Given the description of an element on the screen output the (x, y) to click on. 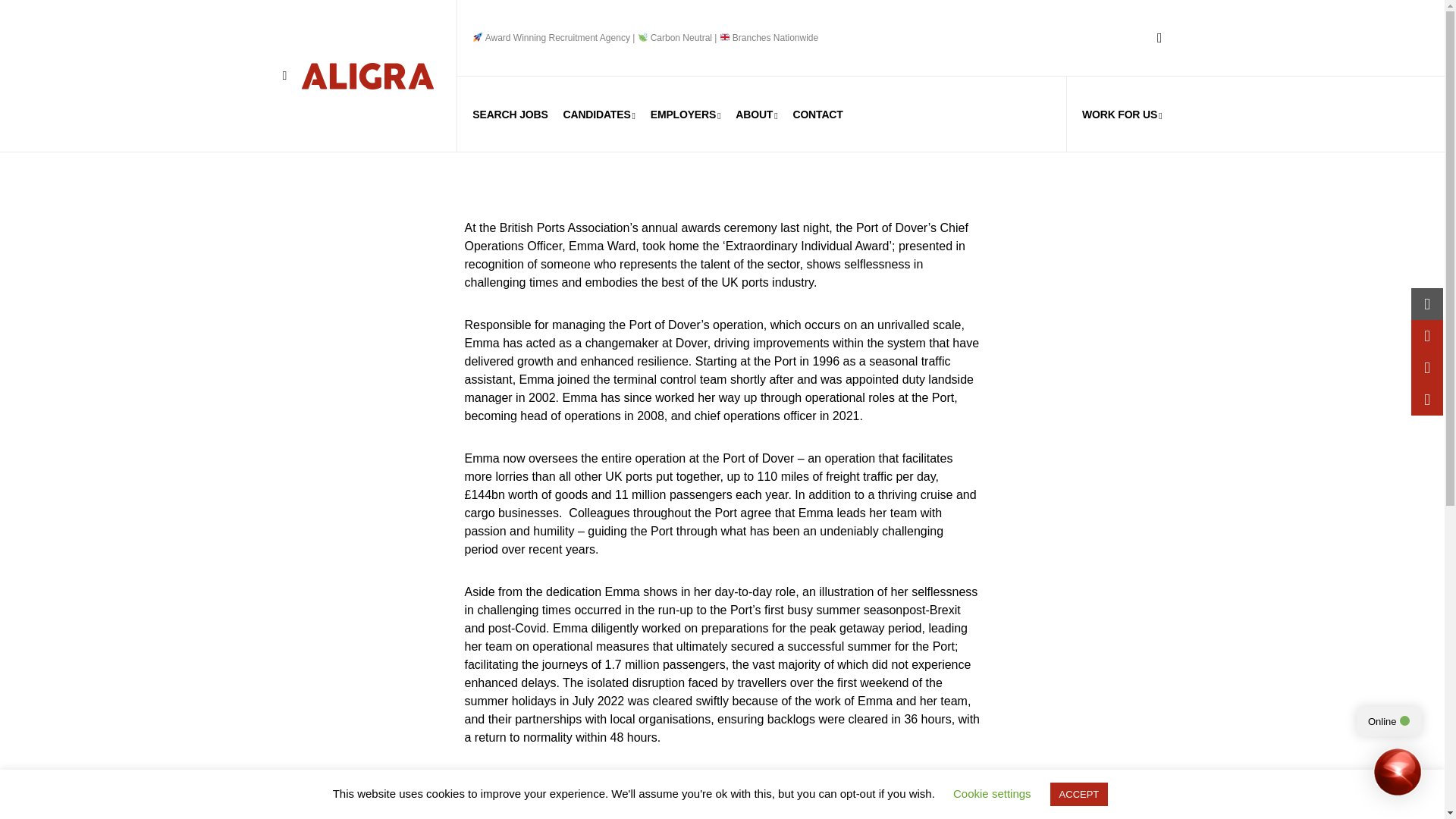
SEARCH JOBS (509, 114)
CANDIDATES (598, 114)
EMPLOYERS (685, 114)
